Given the description of an element on the screen output the (x, y) to click on. 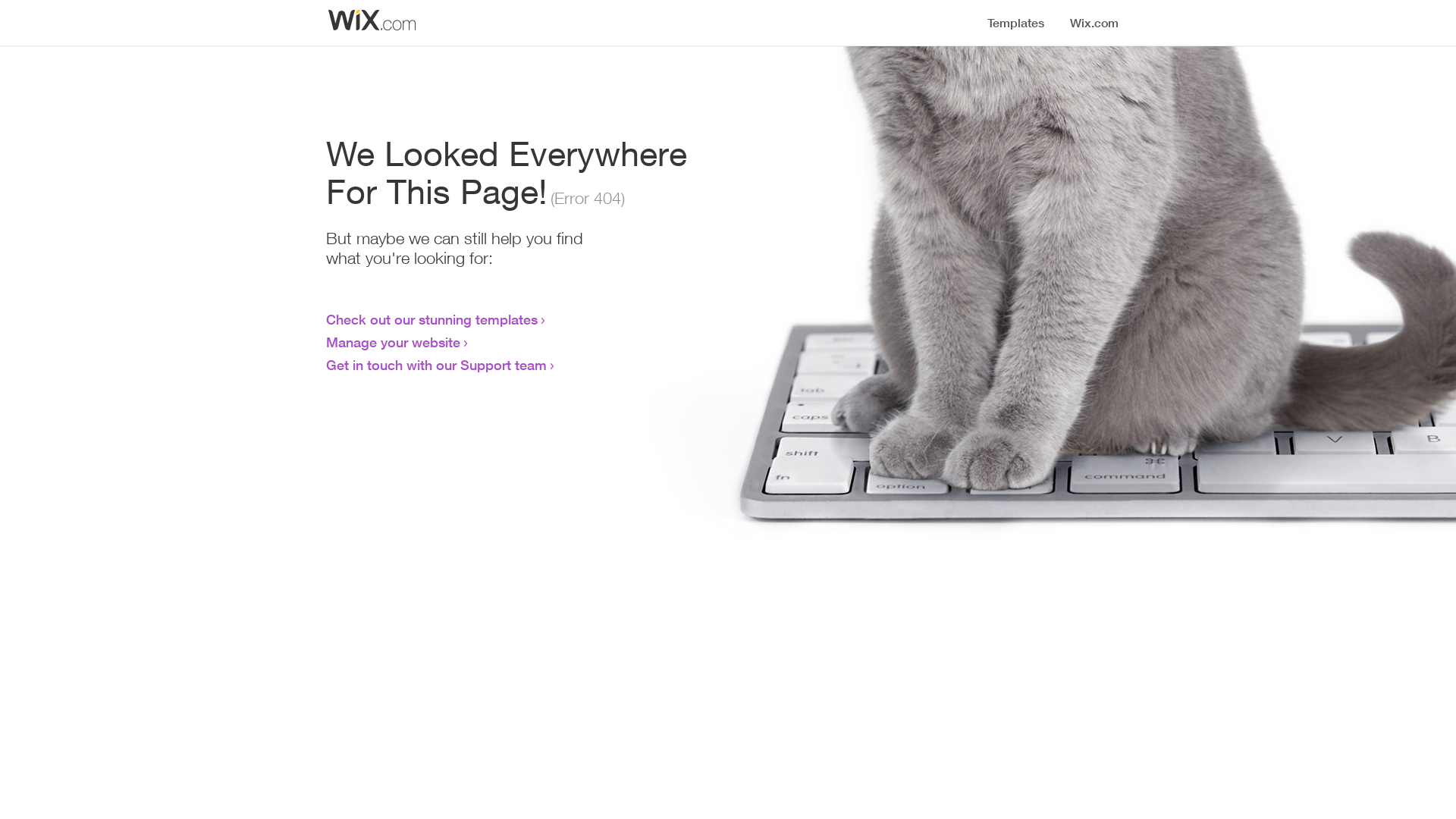
Get in touch with our Support team Element type: text (436, 364)
Manage your website Element type: text (393, 341)
Check out our stunning templates Element type: text (431, 318)
